Given the description of an element on the screen output the (x, y) to click on. 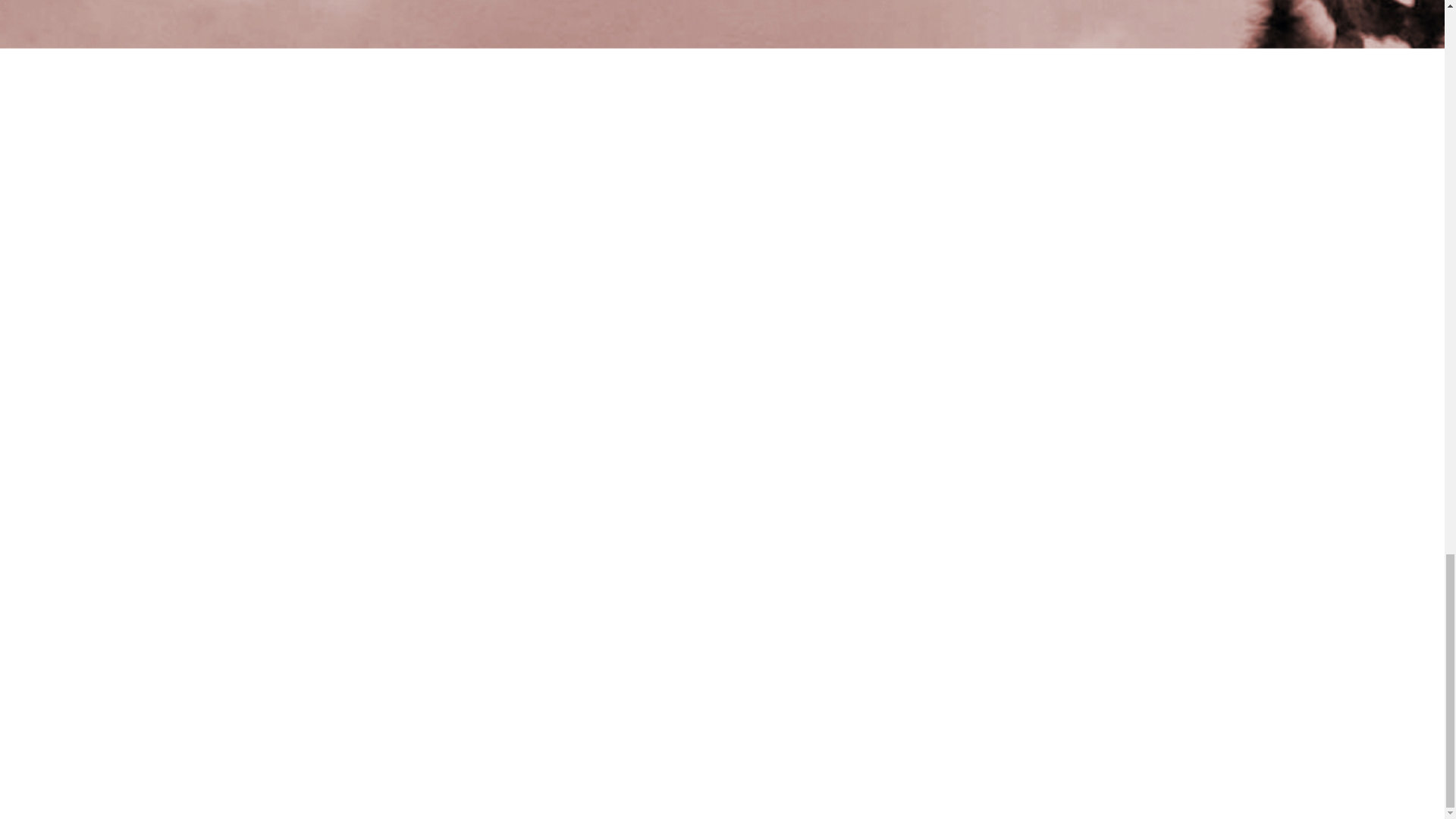
About Aquarium Drunkard (1281, 751)
Transmissions Podcast (558, 354)
Aquarium Drunkard Merch Shop (1373, 751)
Email Newsletter (759, 354)
The AD Interview (290, 354)
Aquarium Drunkard (721, 749)
Lagniappe Sessions (417, 354)
AD Supply (858, 354)
Mixtapes (667, 354)
Membership (942, 354)
